Given the description of an element on the screen output the (x, y) to click on. 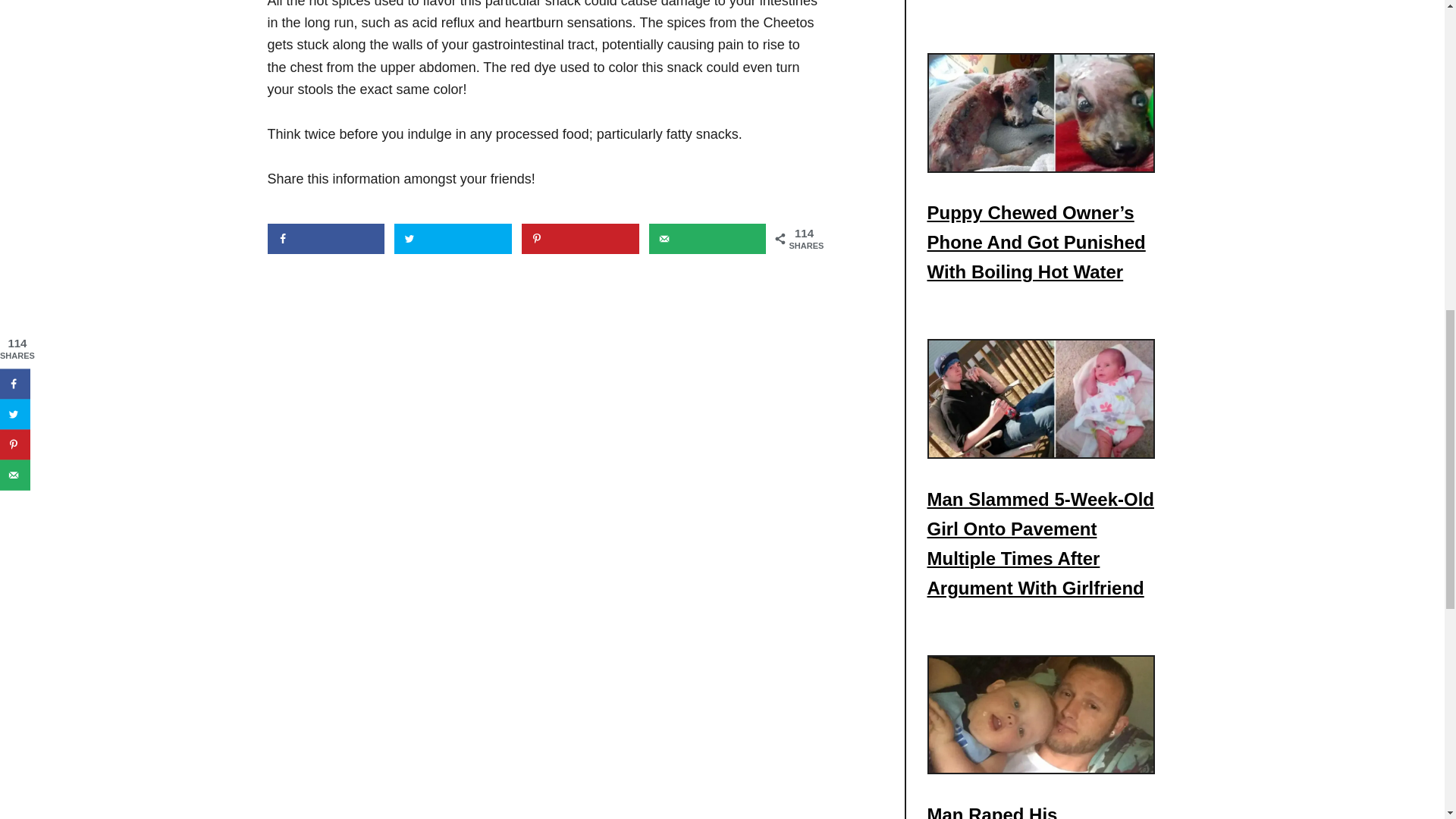
Save to Pinterest (580, 238)
Share on Facebook (325, 238)
Share on Twitter (453, 238)
Send over email (708, 238)
